Given the description of an element on the screen output the (x, y) to click on. 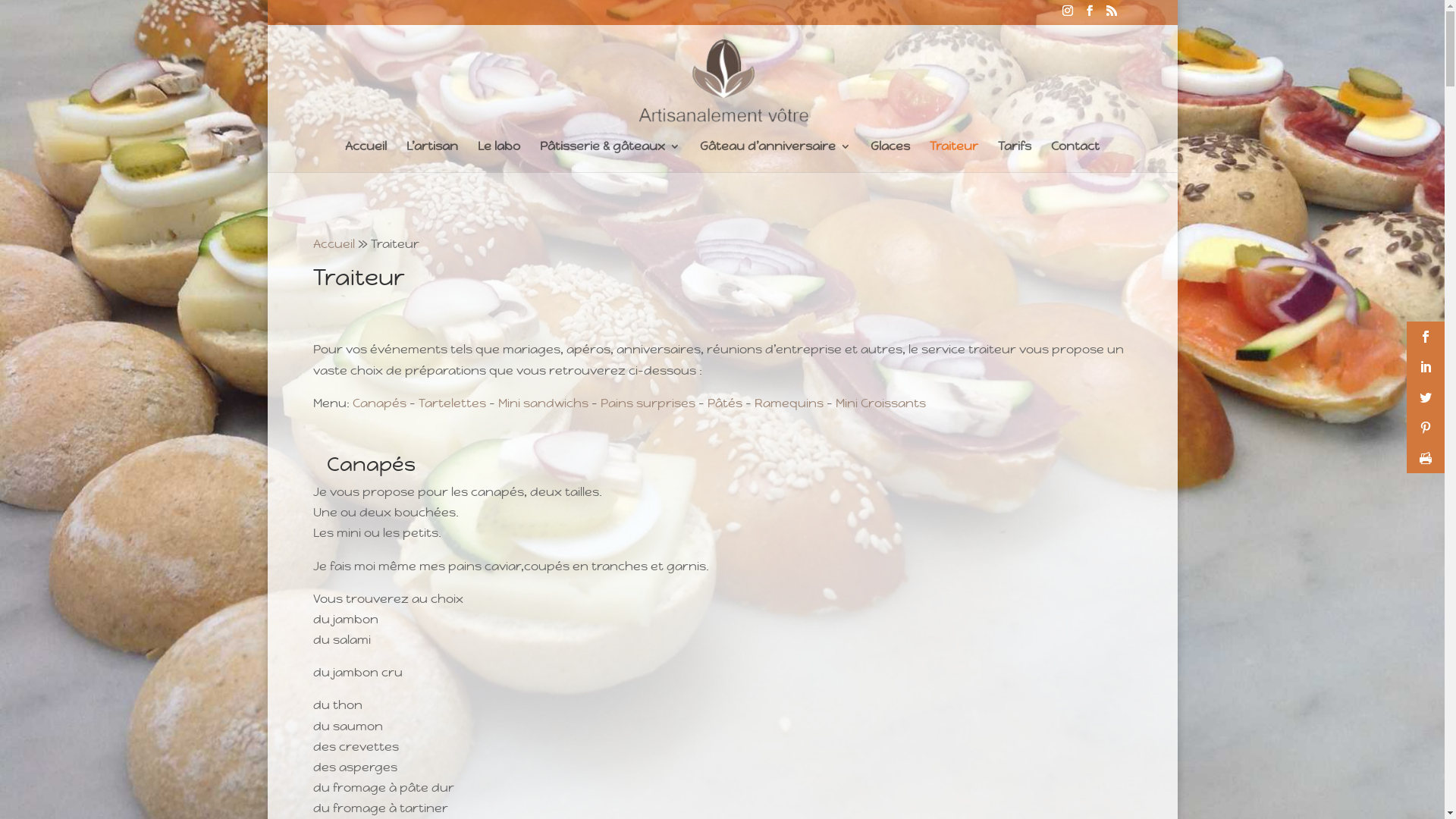
Tarifs Element type: text (1014, 156)
Glaces Element type: text (890, 156)
Mini sandwichs Element type: text (542, 403)
Tartelettes Element type: text (452, 403)
Contact Element type: text (1075, 156)
Ramequins Element type: text (787, 403)
Le labo Element type: text (498, 156)
Pains surprises Element type: text (647, 403)
Accueil Element type: text (333, 243)
Traiteur Element type: text (953, 156)
Accueil Element type: text (365, 156)
Mini Croissants Element type: text (880, 403)
